Given the description of an element on the screen output the (x, y) to click on. 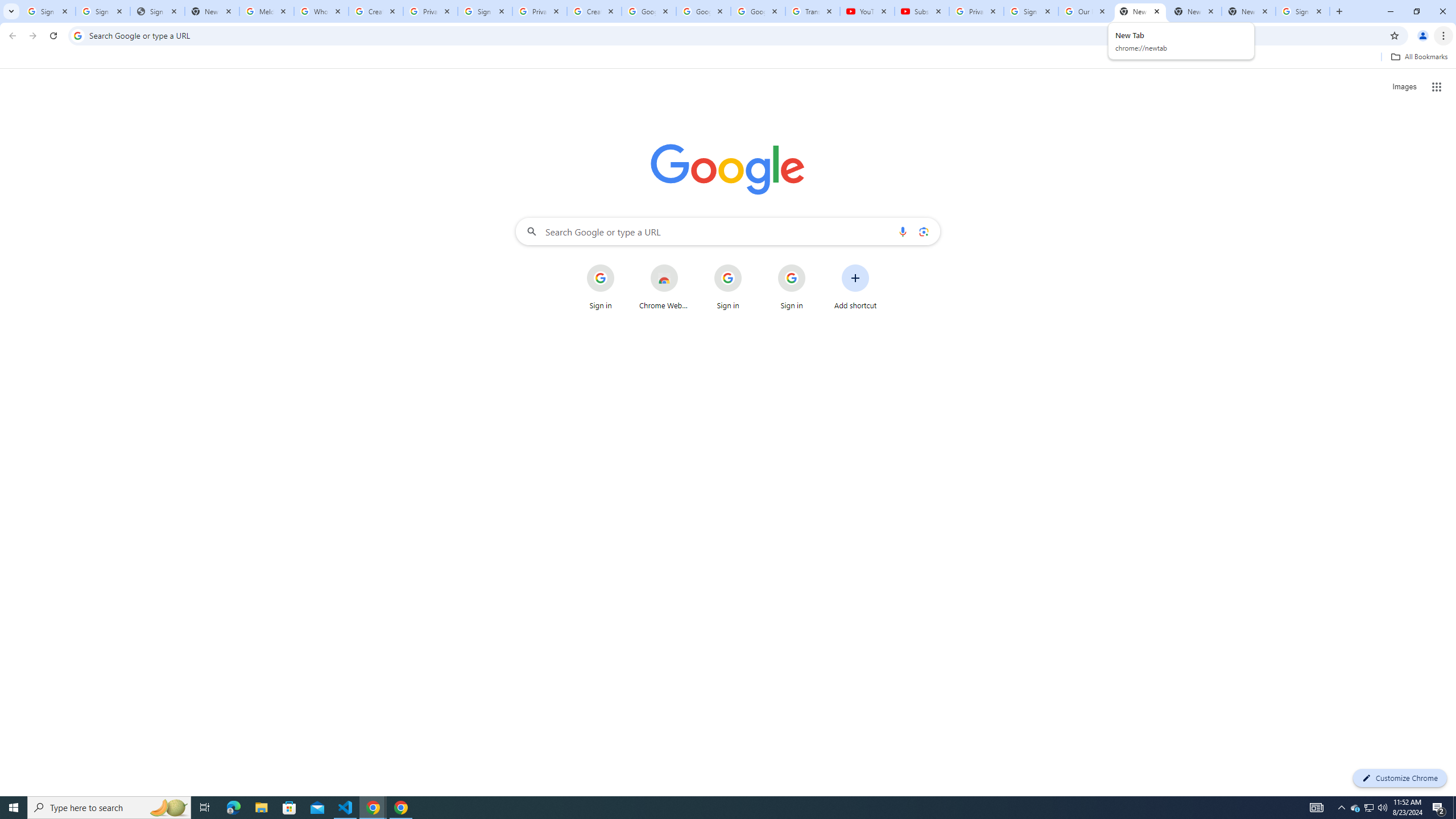
Create your Google Account (594, 11)
Sign In - USA TODAY (157, 11)
Subscriptions - YouTube (921, 11)
Sign in - Google Accounts (102, 11)
Who is my administrator? - Google Account Help (320, 11)
Sign in - Google Accounts (484, 11)
Search for Images  (1403, 87)
All Bookmarks (1418, 56)
New Tab (1249, 11)
More actions for Chrome Web Store shortcut (686, 265)
